Given the description of an element on the screen output the (x, y) to click on. 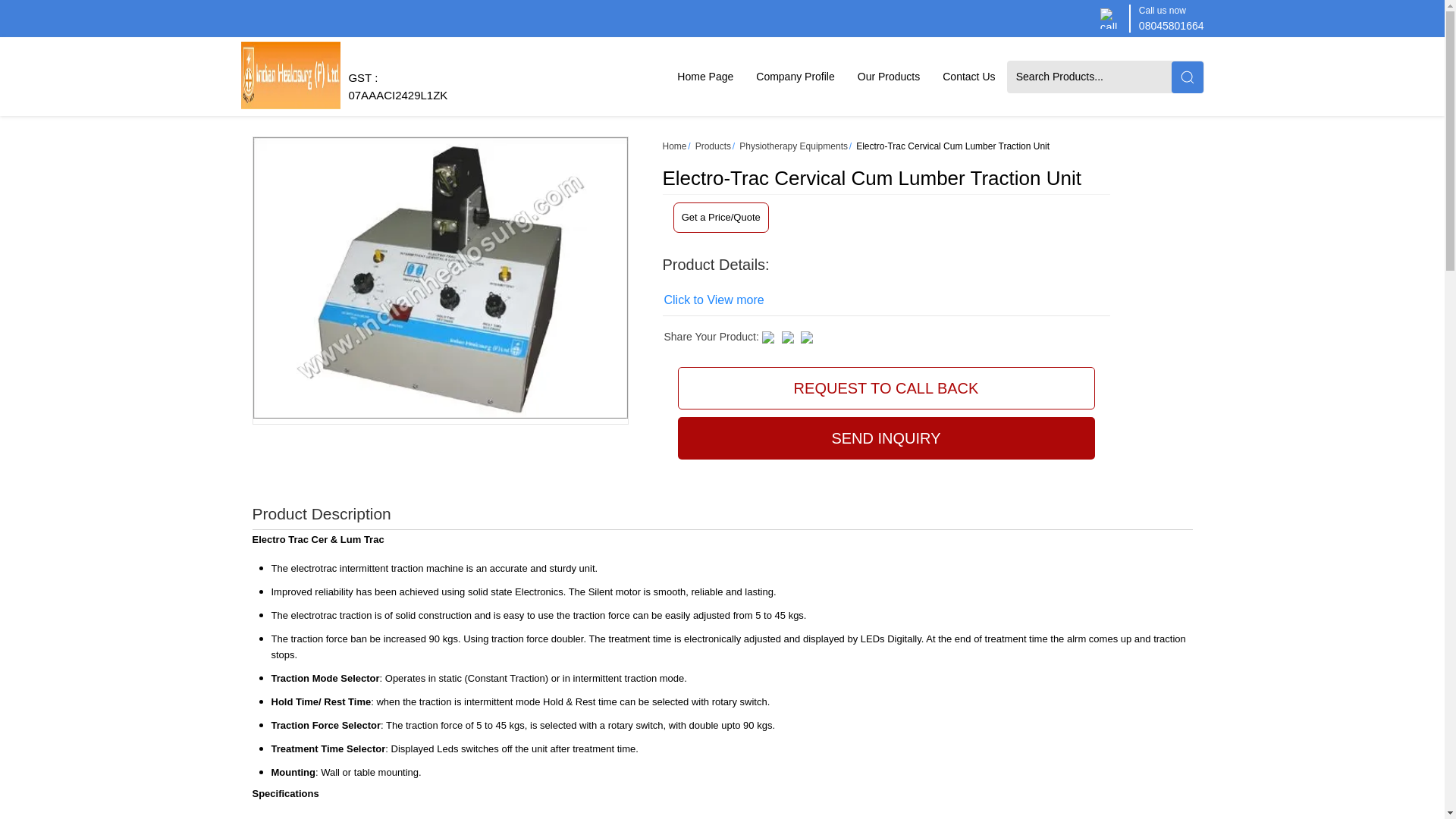
Contact Us (968, 76)
Home Page (704, 76)
GST : 07AAACI2429L1ZK (396, 93)
Physiotherapy Equipments (793, 145)
Click to View more (713, 300)
Company Profile (794, 76)
submit (1186, 76)
Home (674, 145)
SEND INQUIRY (886, 437)
Search Products... (1089, 75)
Our Products (888, 76)
REQUEST TO CALL BACK (886, 387)
Search (1186, 76)
Products (712, 145)
Search Products... (1089, 75)
